Given the description of an element on the screen output the (x, y) to click on. 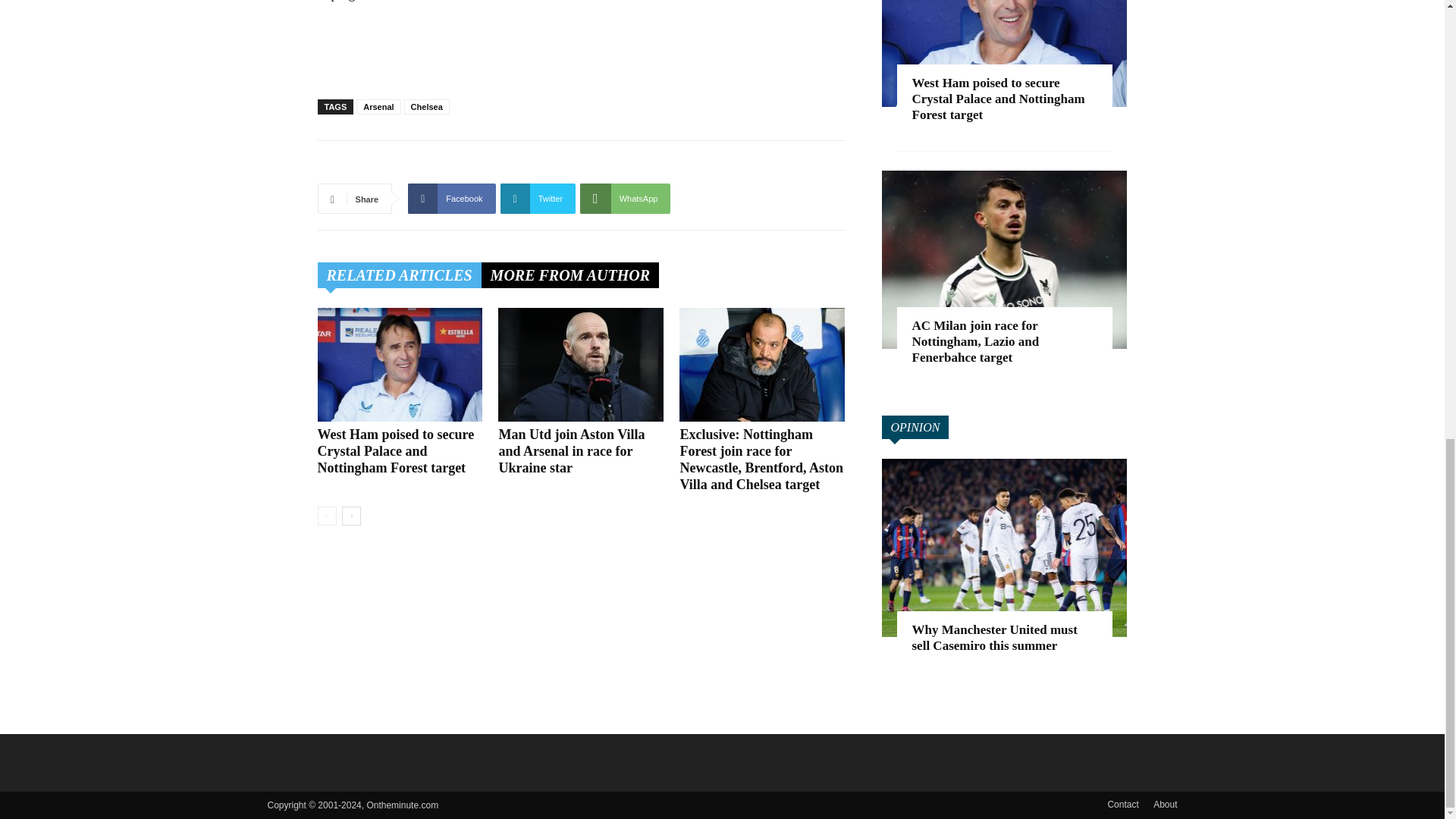
Twitter (538, 198)
Arsenal (378, 106)
Facebook (451, 198)
Chelsea (426, 106)
bottomFacebookLike (430, 164)
WhatsApp (624, 198)
